Given the description of an element on the screen output the (x, y) to click on. 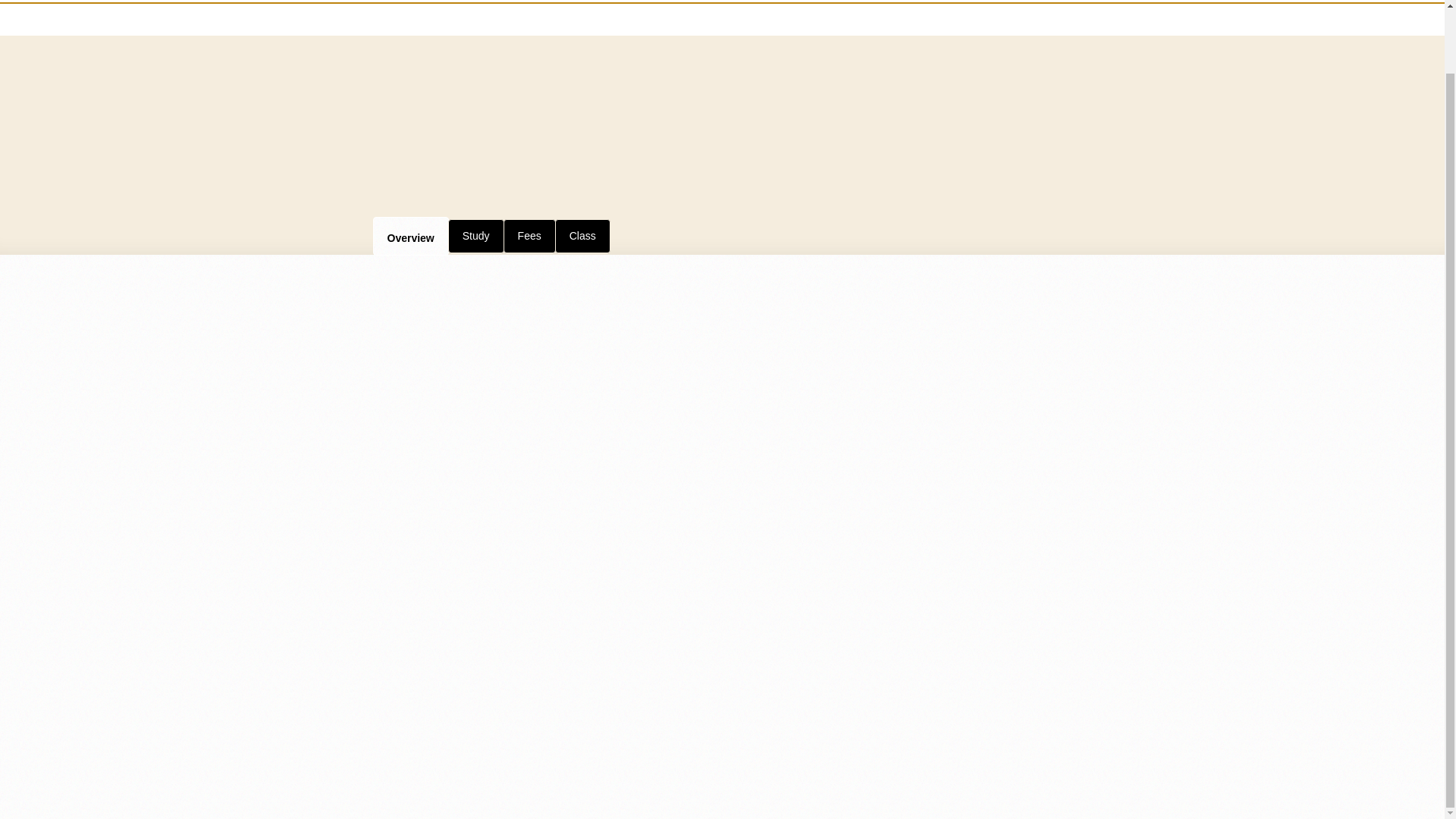
Overview (410, 235)
Class (582, 235)
Fees (529, 235)
Study (475, 235)
